Given the description of an element on the screen output the (x, y) to click on. 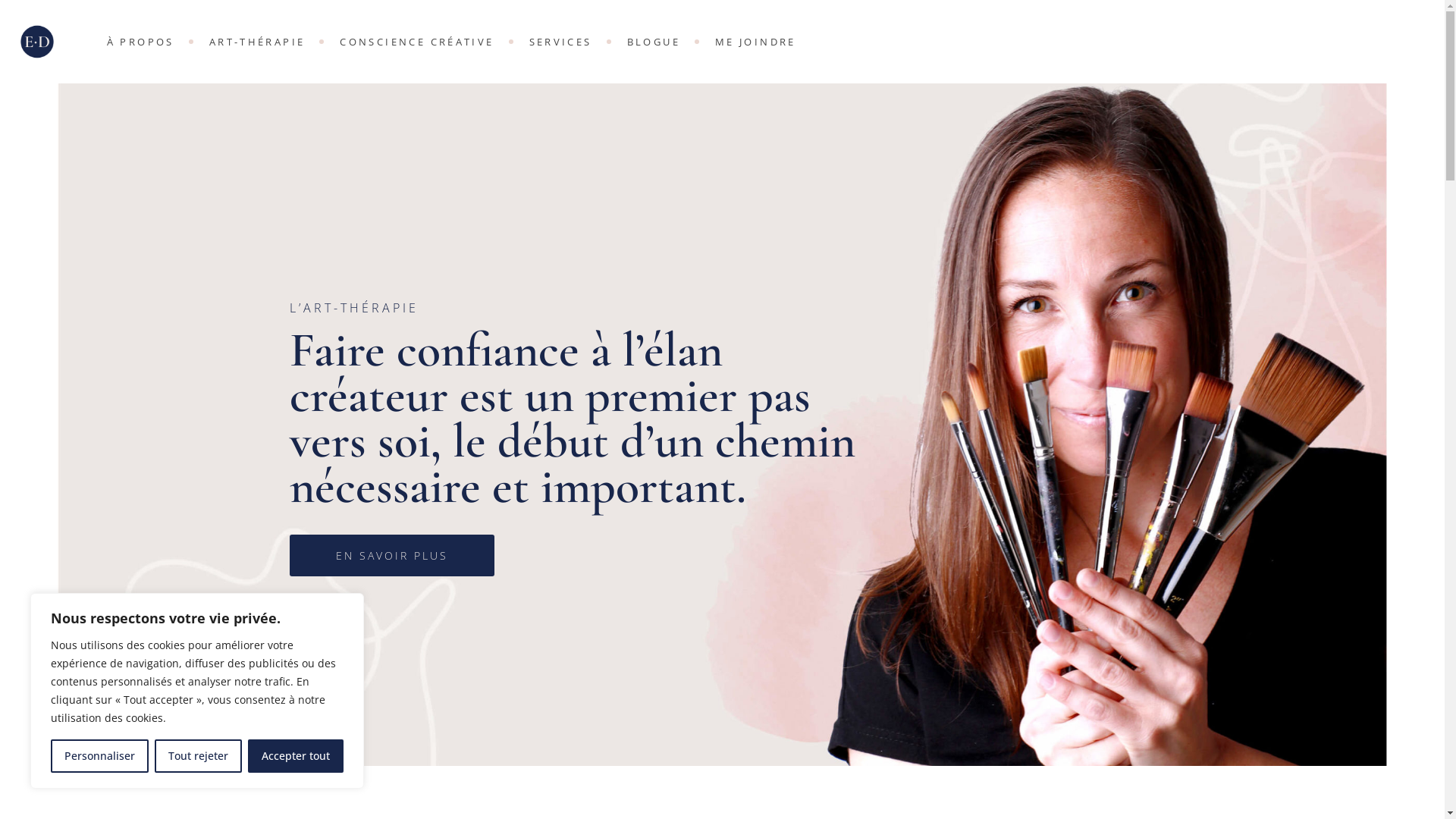
SERVICES Element type: text (560, 41)
Personnaliser Element type: text (99, 755)
BLOGUE Element type: text (653, 41)
Accepter tout Element type: text (295, 755)
ME JOINDRE Element type: text (755, 41)
EN SAVOIR PLUS Element type: text (391, 555)
Tout rejeter Element type: text (197, 755)
